Given the description of an element on the screen output the (x, y) to click on. 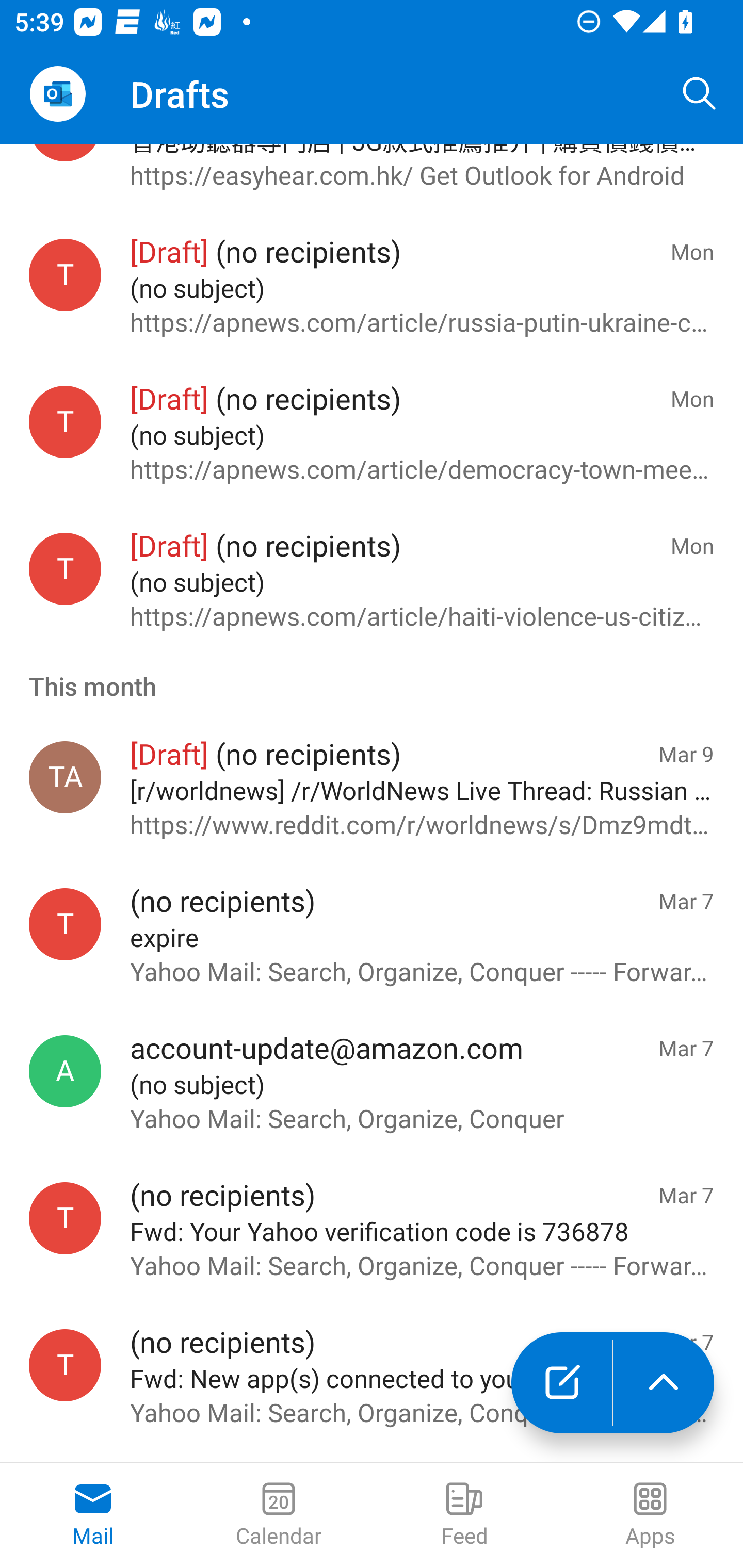
Search, ,  (699, 93)
Open Navigation Drawer (57, 94)
testappium002@outlook.com (64, 274)
testappium002@outlook.com (64, 421)
testappium002@outlook.com (64, 569)
Test Appium, testappium002@outlook.com (64, 777)
testappium002@outlook.com (64, 923)
testappium002@outlook.com (64, 1218)
testappium002@outlook.com (64, 1365)
New mail (561, 1382)
launch the extended action menu (663, 1382)
Calendar (278, 1515)
Feed (464, 1515)
Apps (650, 1515)
